Given the description of an element on the screen output the (x, y) to click on. 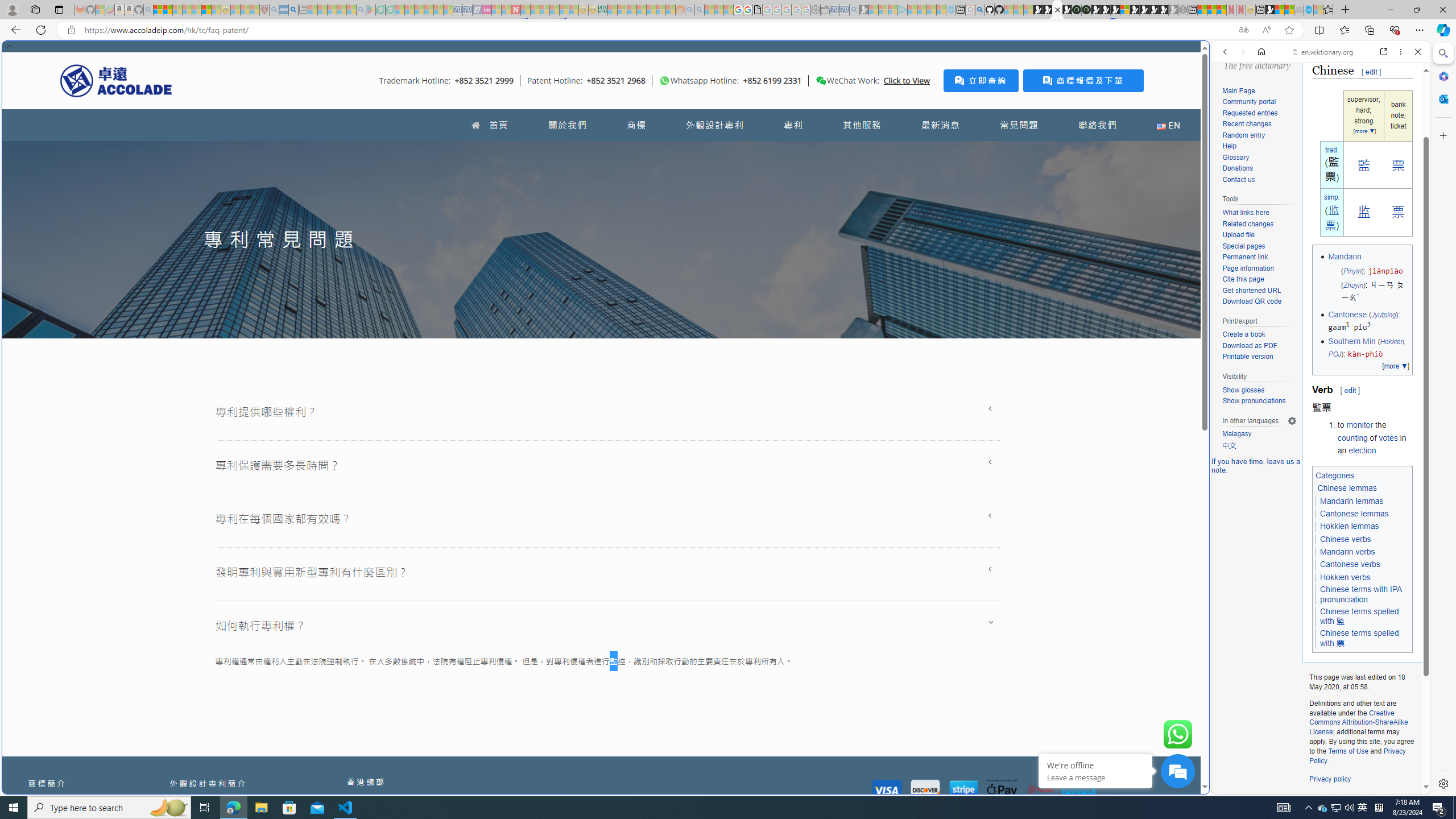
Accolade IP HK Logo (116, 80)
Chinese verbs (1345, 538)
Special pages (1243, 245)
Mandarin (1344, 256)
Hokkien verbs (1345, 576)
Get shortened URL (1251, 289)
This page was last edited on 18 May 2020, at 05:58. (1361, 682)
Hokkien lemmas (1349, 526)
